Given the description of an element on the screen output the (x, y) to click on. 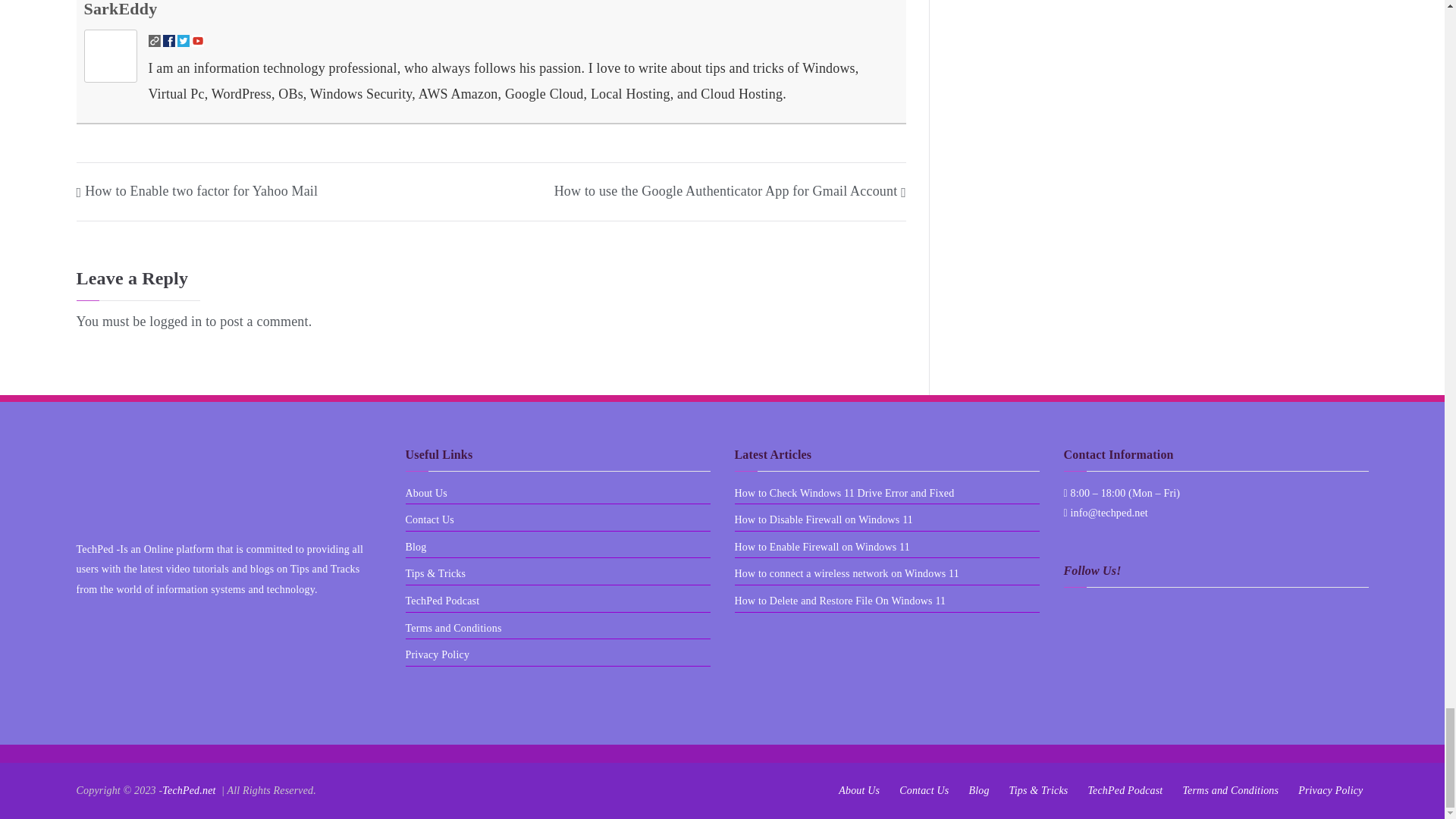
All posts by SarkEddy (119, 9)
